Given the description of an element on the screen output the (x, y) to click on. 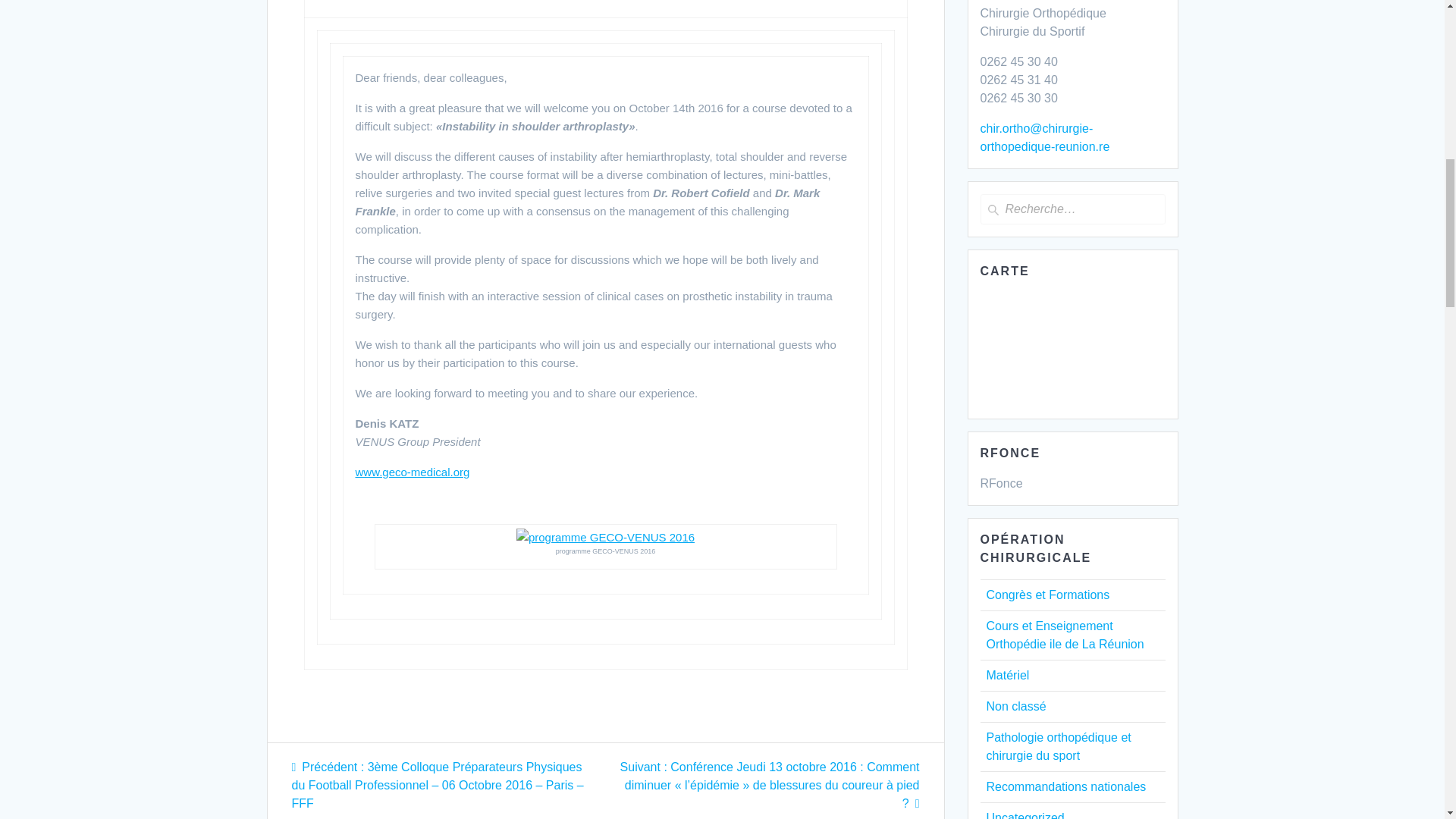
www.geco-medical.org (411, 472)
Recommandations nationales (1065, 786)
